Given the description of an element on the screen output the (x, y) to click on. 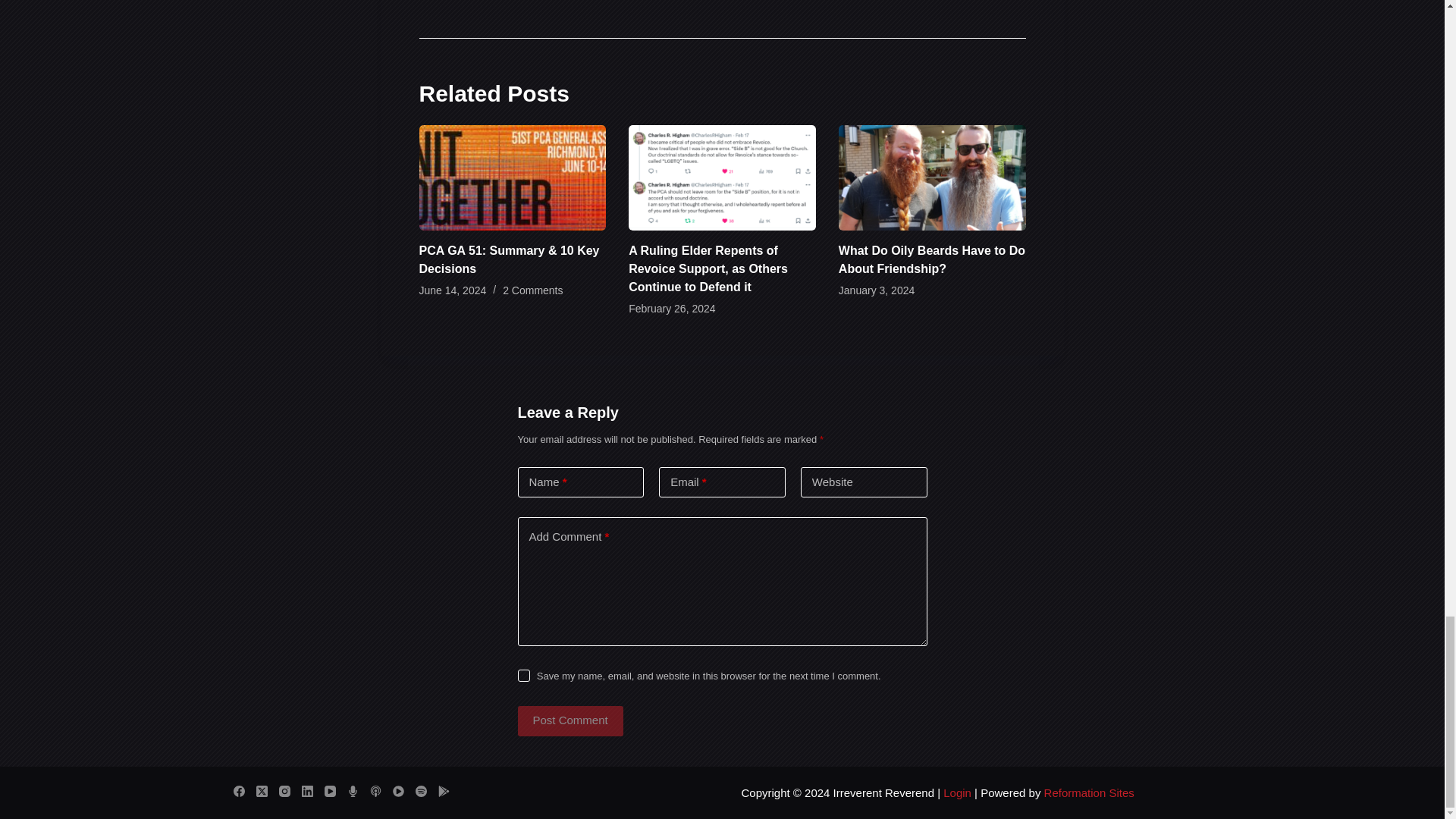
yes (522, 675)
